Given the description of an element on the screen output the (x, y) to click on. 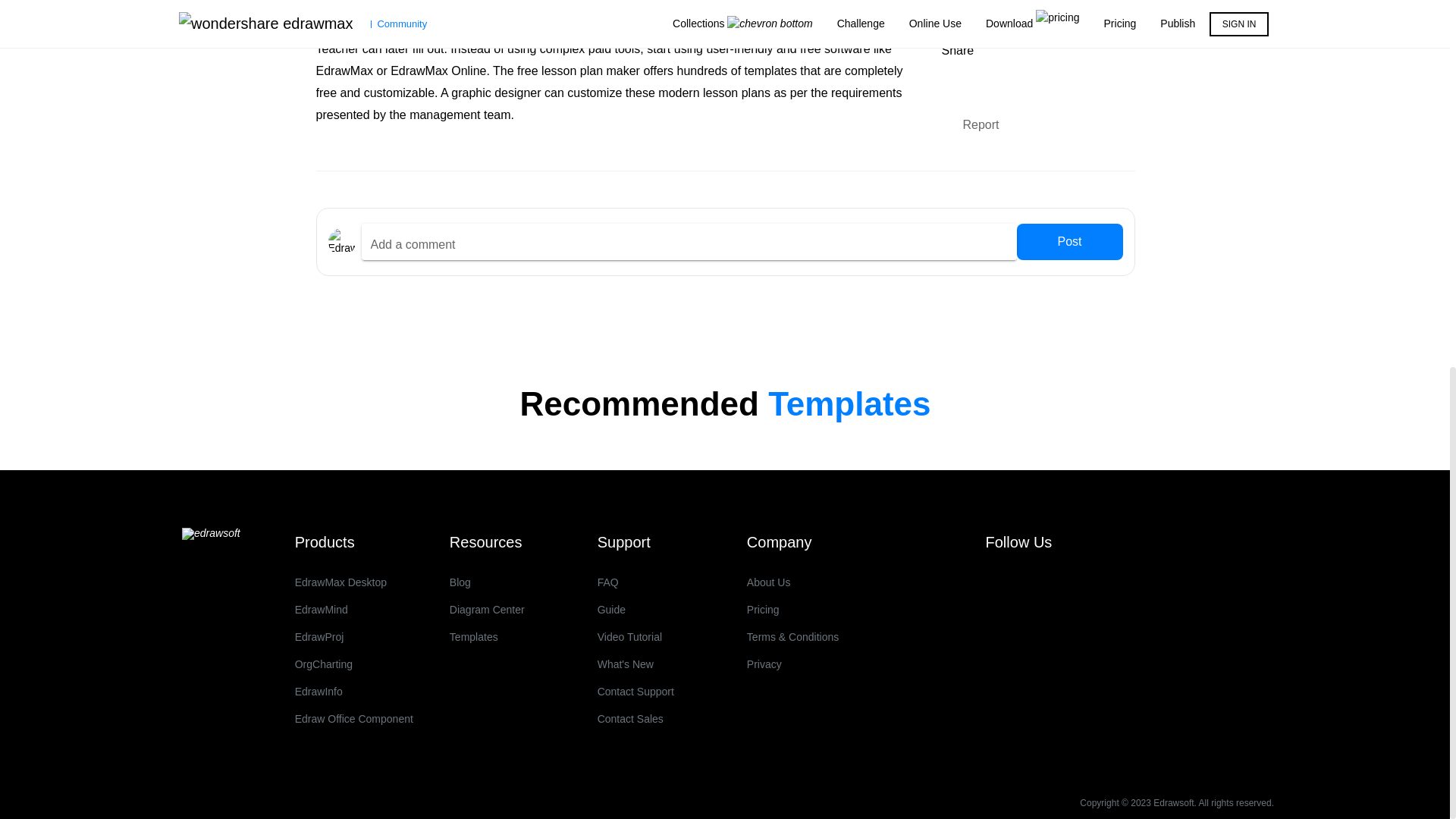
Contact Sales (635, 718)
Contact Support (635, 691)
Guide (635, 609)
EdrawProj (354, 636)
Blog (486, 582)
Privacy (792, 664)
Templates (486, 636)
EdrawInfo (354, 691)
Diagram Center (486, 609)
Lesson Plan (981, 9)
Pricing (792, 609)
Video Tutorial (635, 636)
What's New (635, 664)
OrgCharting (354, 664)
EdrawMind (354, 609)
